Given the description of an element on the screen output the (x, y) to click on. 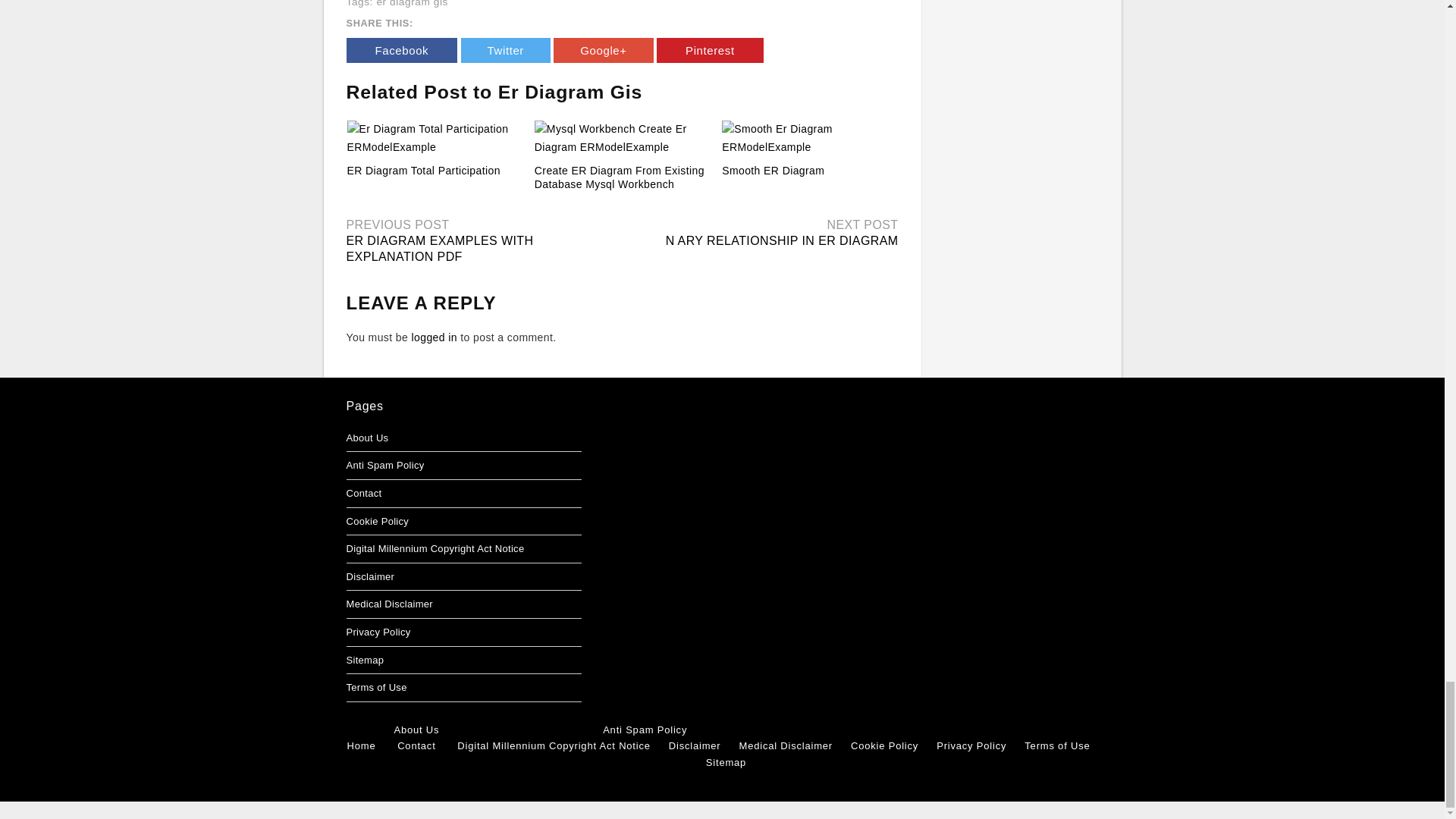
N ARY RELATIONSHIP IN ER DIAGRAM (781, 240)
Smooth ER Diagram (773, 170)
Facebook (401, 50)
Pinterest (709, 50)
ER Diagram Total Participation (423, 170)
ER DIAGRAM EXAMPLES WITH EXPLANATION PDF (439, 248)
Twitter (505, 50)
logged in (434, 337)
er diagram gis (411, 3)
Create ER Diagram From Existing Database Mysql Workbench (619, 177)
